Given the description of an element on the screen output the (x, y) to click on. 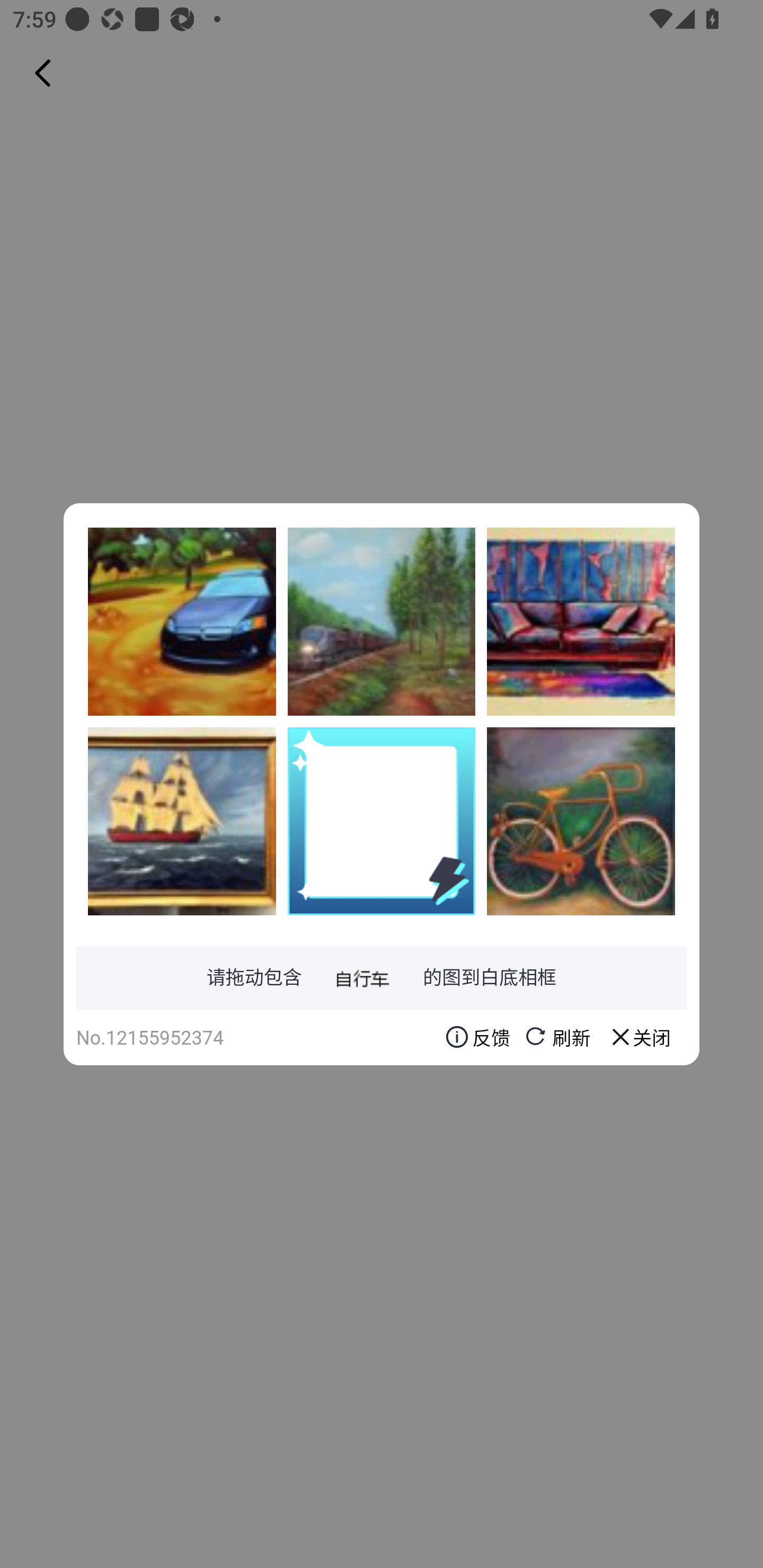
spHzpF7s (580, 621)
qCNXx138uFglF (580, 820)
